Given the description of an element on the screen output the (x, y) to click on. 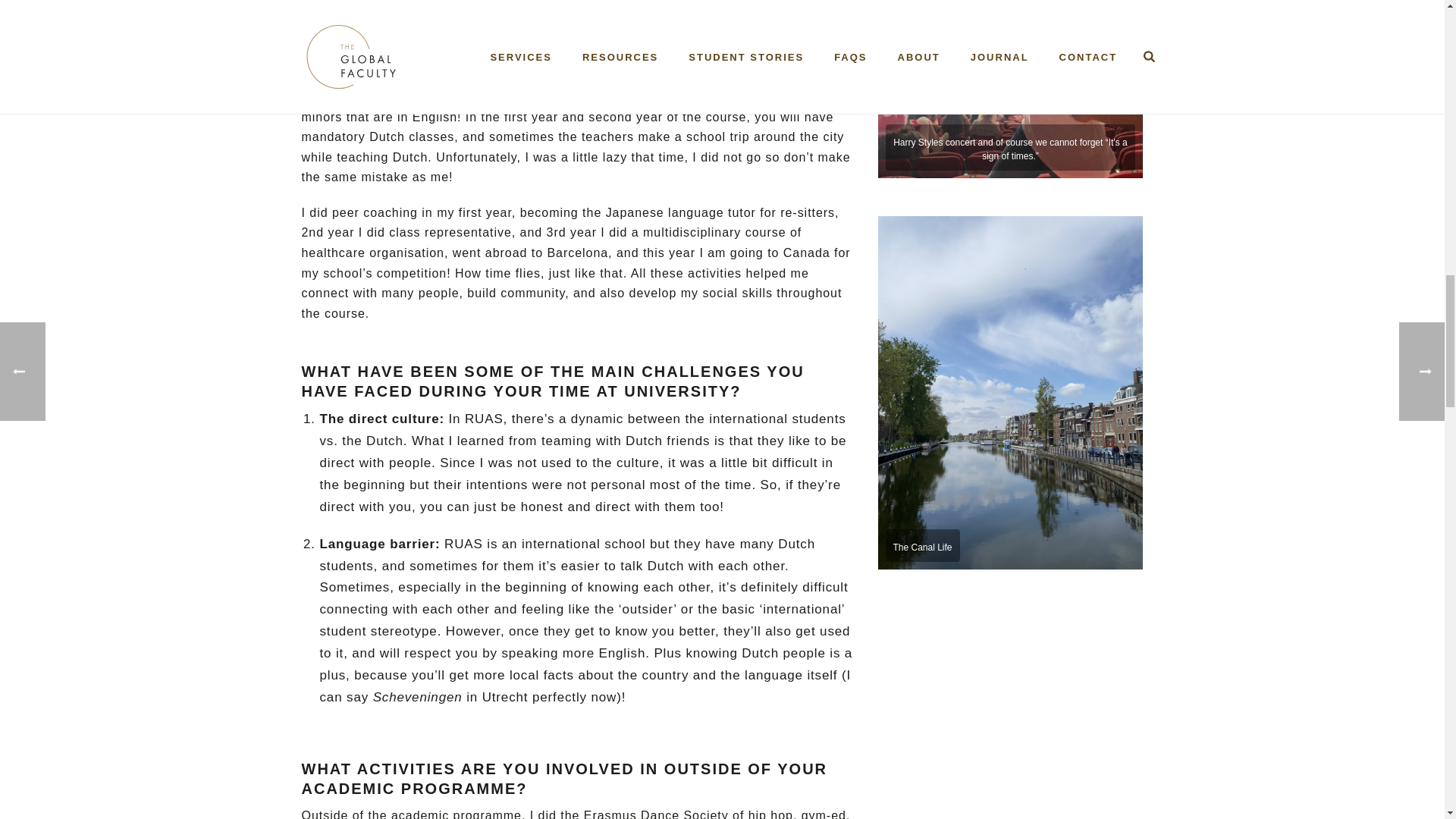
image2 (1009, 88)
